Given the description of an element on the screen output the (x, y) to click on. 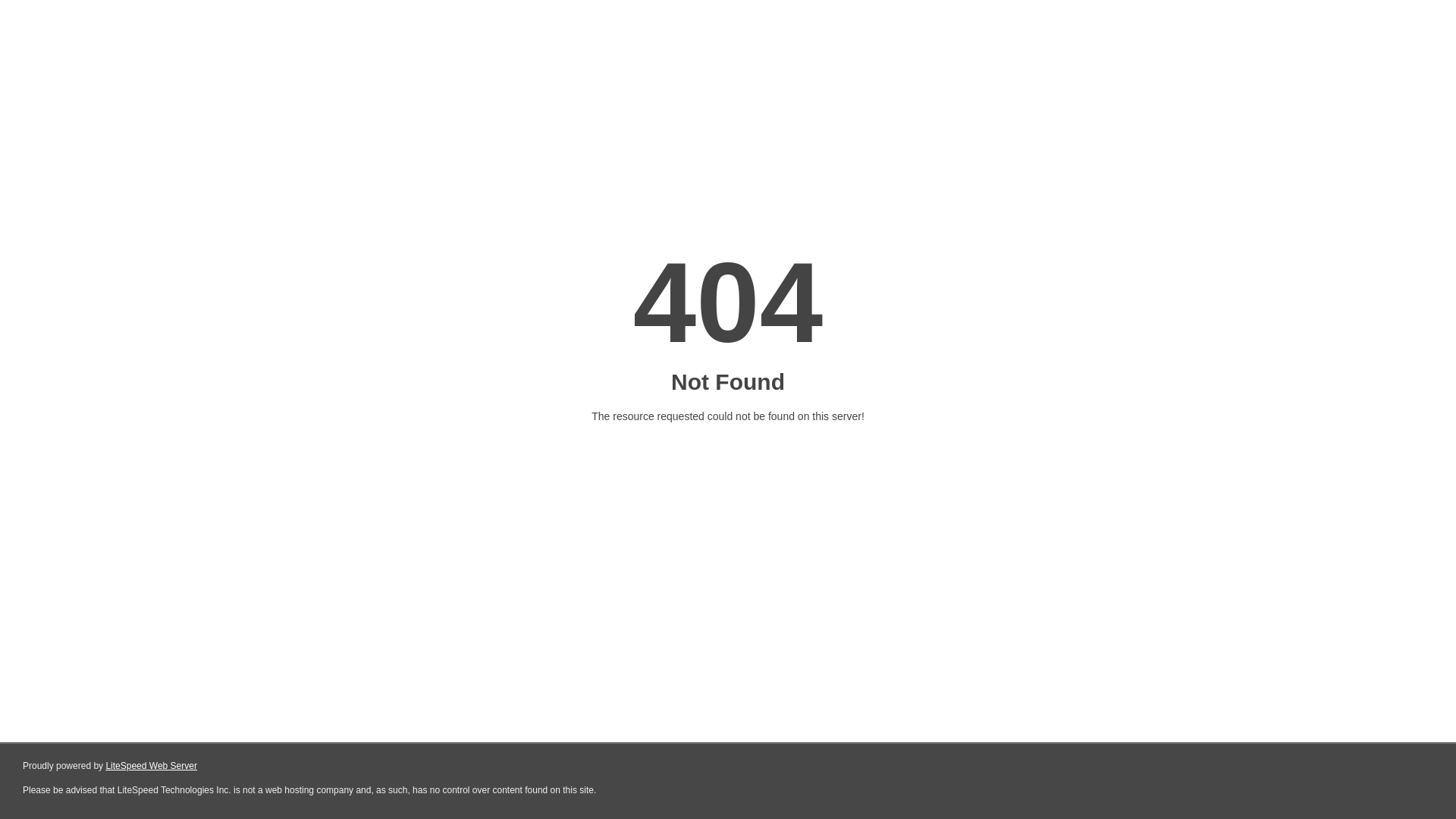
LiteSpeed Web Server Element type: text (151, 765)
